Given the description of an element on the screen output the (x, y) to click on. 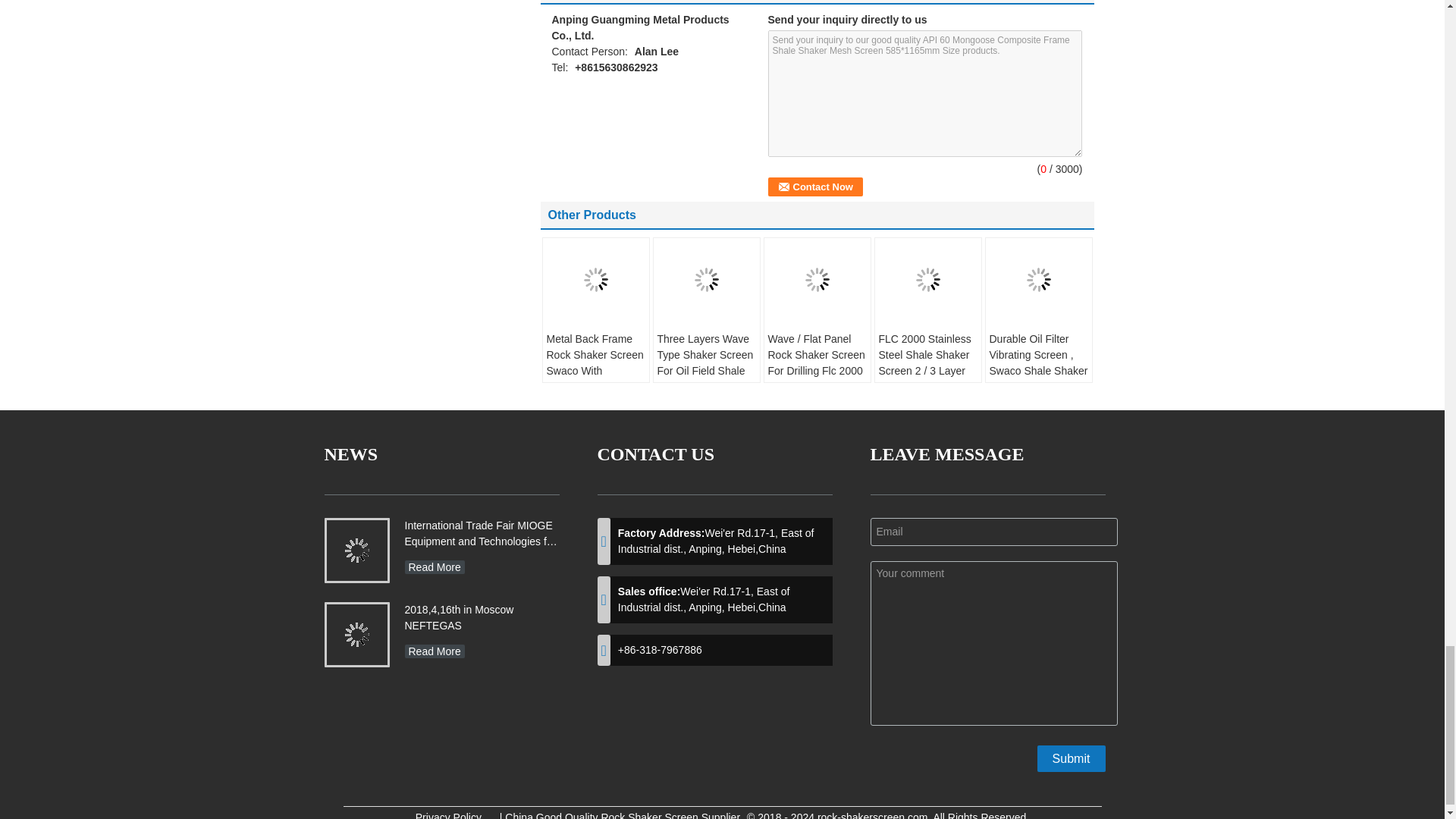
Submit (1070, 758)
Contact Now (814, 186)
